Given the description of an element on the screen output the (x, y) to click on. 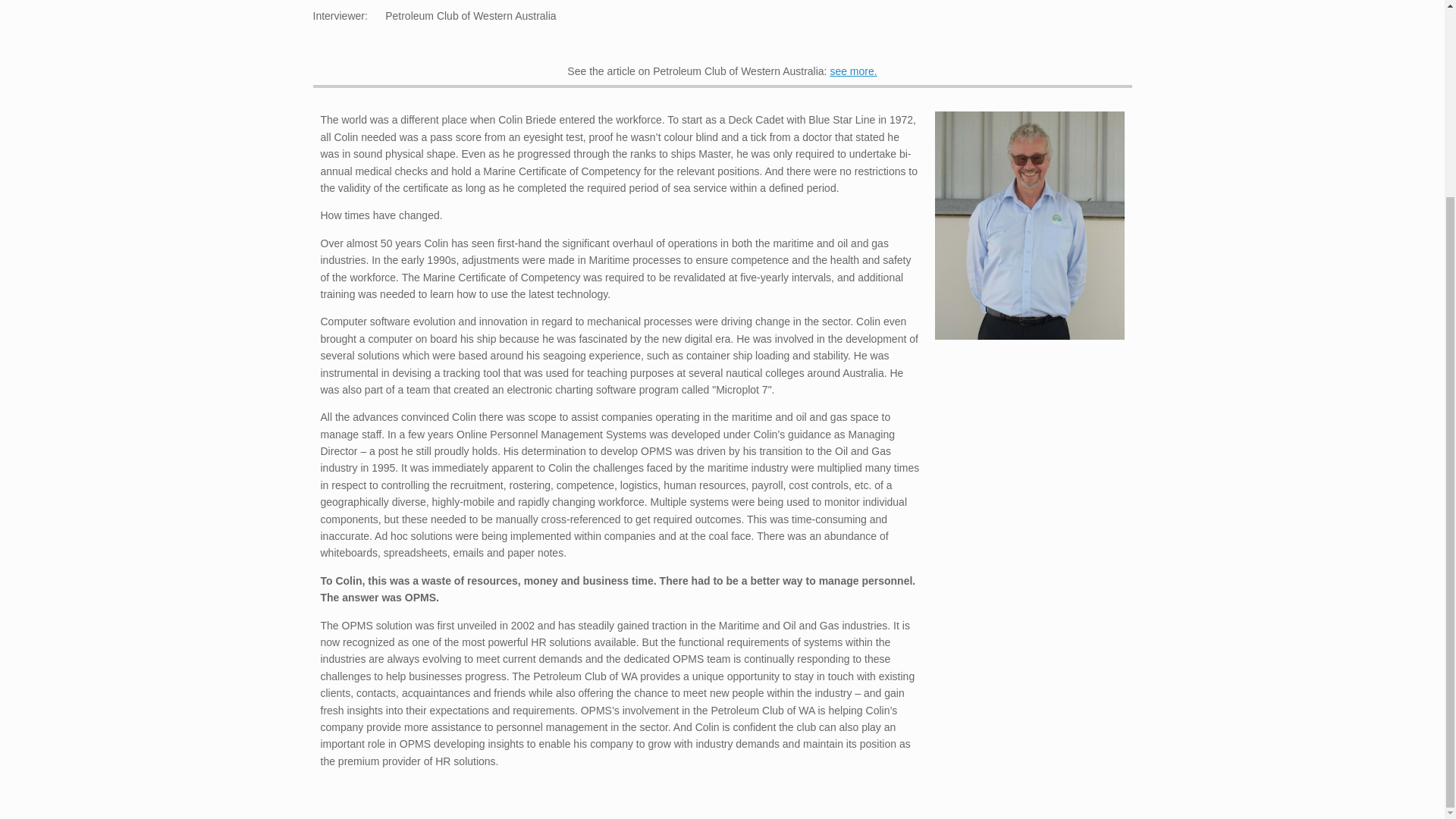
see more. (852, 70)
